Given the description of an element on the screen output the (x, y) to click on. 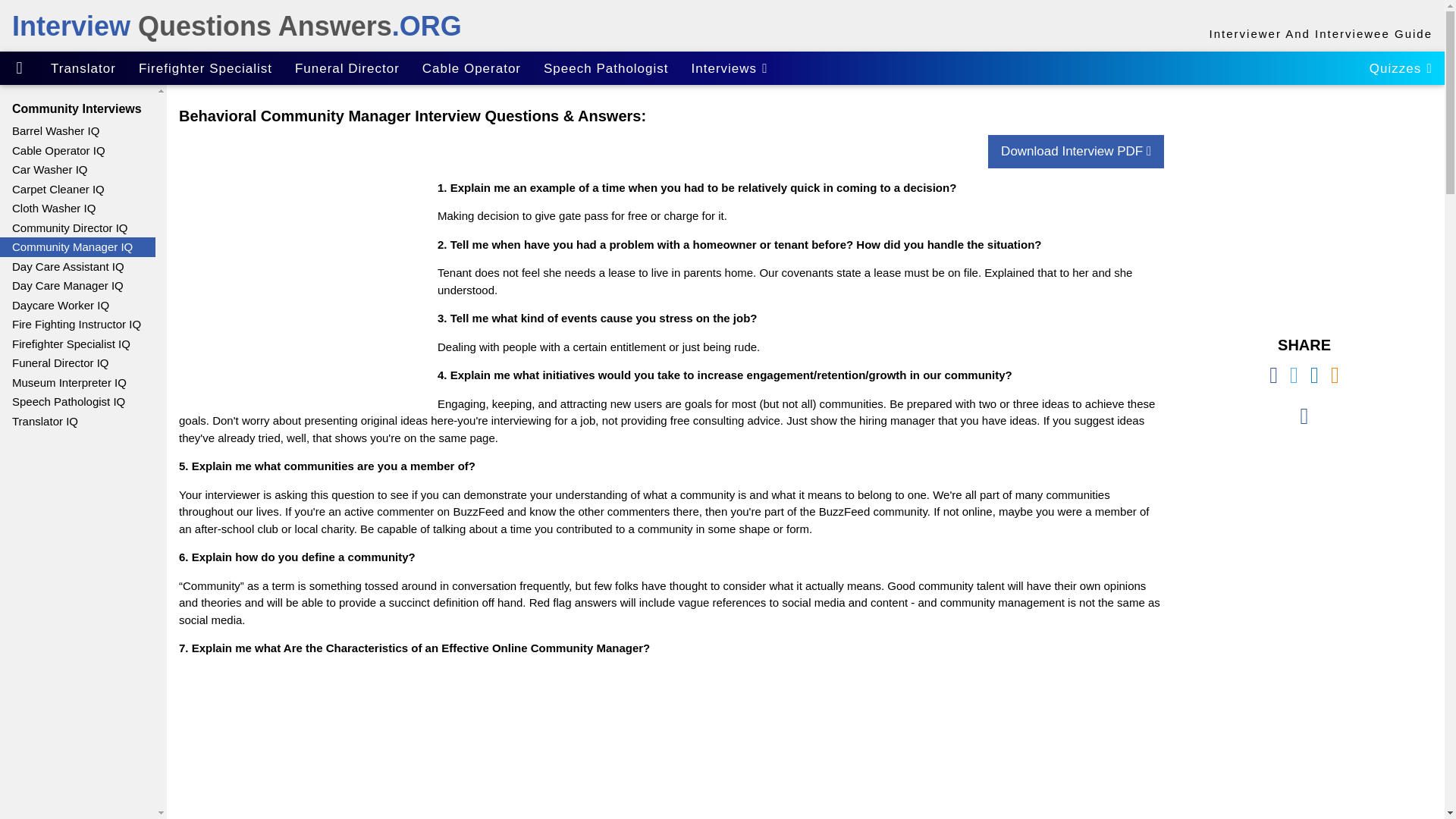
Firefighter Specialist Interview Questions And Answers (205, 68)
Daycare Worker Interview Questions And Answers (77, 305)
Barrel Washer Interview Questions And Answers (77, 130)
Speech Pathologist (605, 68)
Cloth Washer Interview Questions And Answers (77, 208)
Cable Operator Interview Questions And Answers (471, 68)
Interviews (729, 68)
Carpet Cleaner Interview Questions And Answers (77, 189)
Translator Interview Questions And Answers (83, 68)
Day Care Manager Interview Questions And Answers (77, 285)
Fire Fighting Instructor Interview Questions And Answers (77, 324)
Speech Pathologist Interview Questions And Answers (605, 68)
Funeral Director (346, 68)
Interviews (729, 68)
Day Care Assistant Interview Questions And Answers (77, 266)
